Given the description of an element on the screen output the (x, y) to click on. 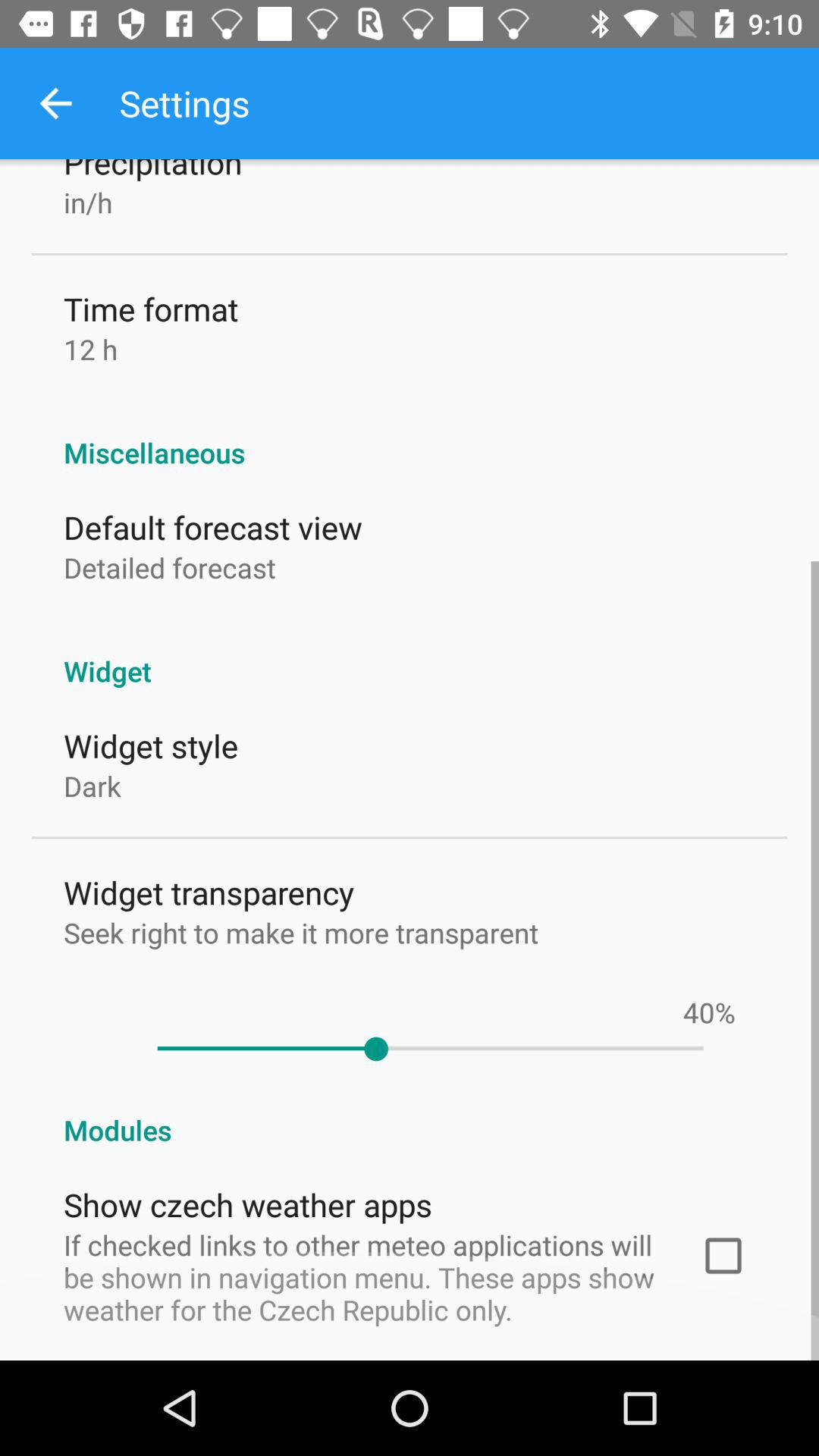
turn on default forecast view icon (212, 526)
